Given the description of an element on the screen output the (x, y) to click on. 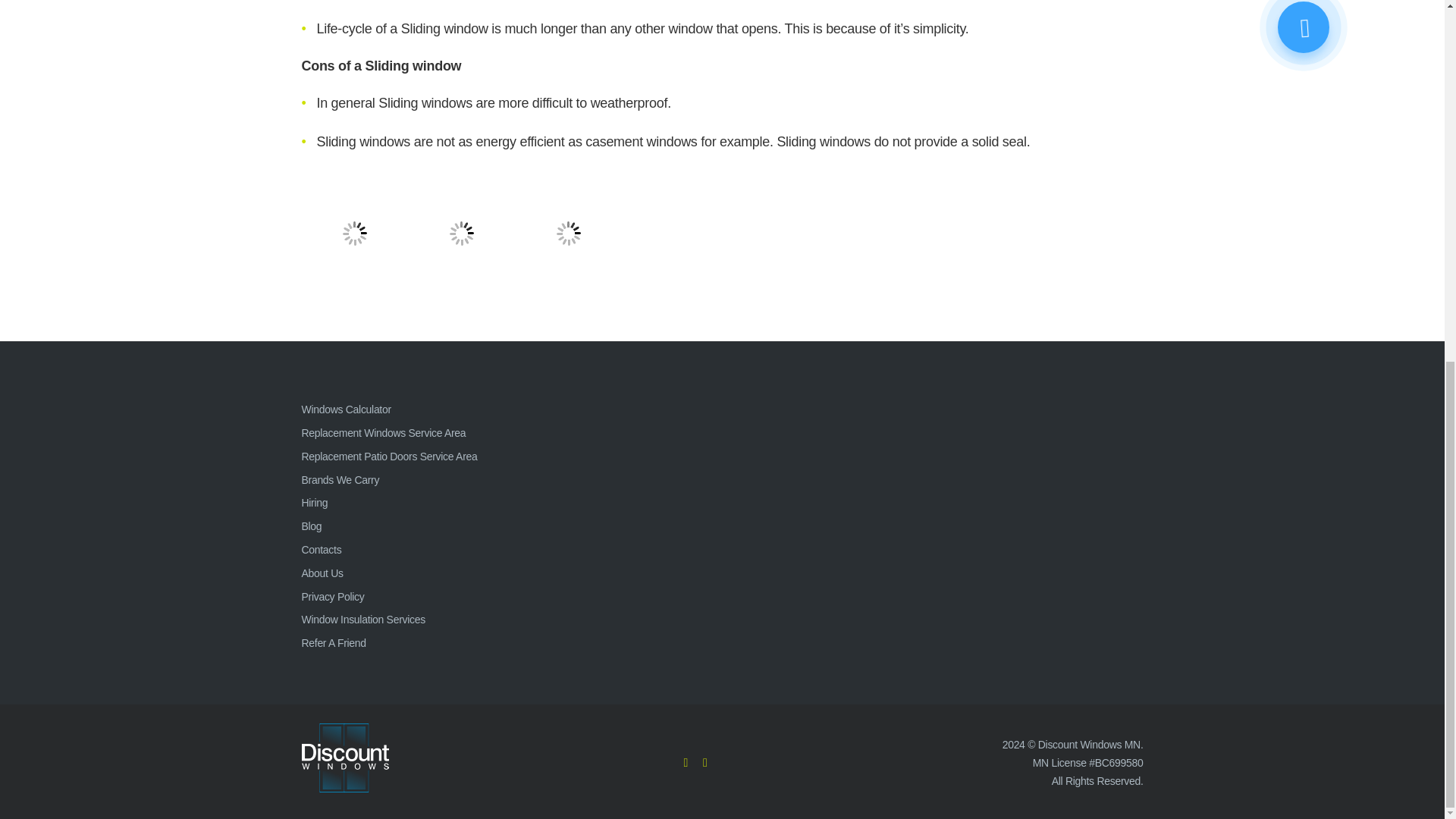
Windows Calculator (346, 409)
Replacement Windows Service Area (383, 432)
Slider Window (568, 233)
Slider Window (354, 233)
Slider Window (460, 233)
Hiring (315, 502)
About Us (322, 573)
Replacement Patio Doors Service Area (389, 456)
Blog (311, 526)
Brands We Carry (340, 480)
